Given the description of an element on the screen output the (x, y) to click on. 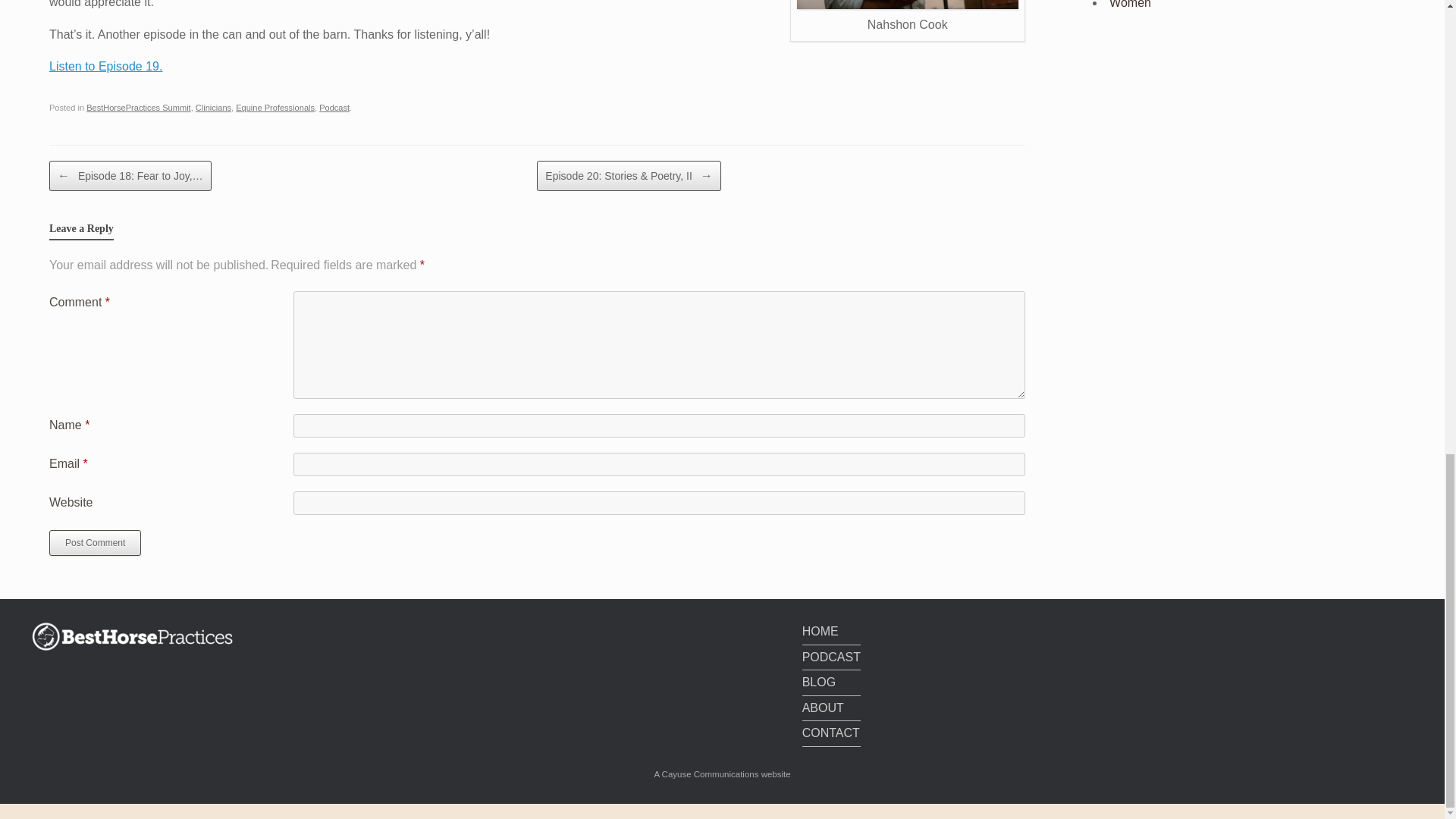
Listen to Episode 19. (105, 65)
Podcast (333, 107)
Equine Professionals (274, 107)
Clinicians (213, 107)
BestHorsePractices Summit (137, 107)
Post Comment (95, 542)
Post Comment (95, 542)
